Given the description of an element on the screen output the (x, y) to click on. 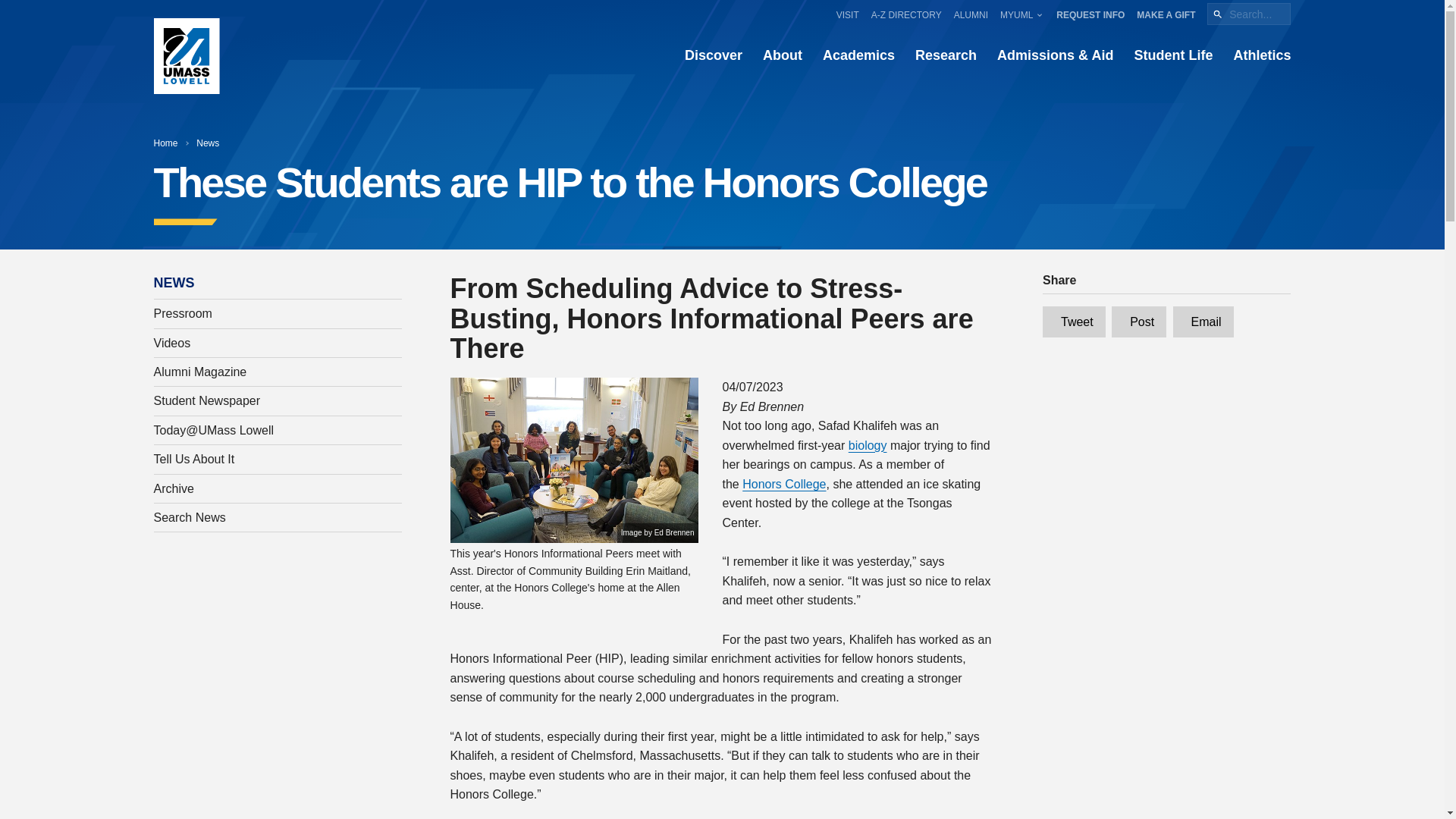
Make A Gift (1166, 14)
Alumni (970, 14)
link this for Biology landing page (867, 445)
A-Z Directory (906, 14)
Student Life (1173, 55)
Research (945, 55)
Visit (847, 14)
Athletics (1261, 55)
Academics (858, 55)
About (782, 55)
Alumni Magazine (277, 371)
News (207, 143)
Athletics (1261, 55)
NEWS (174, 282)
Tell Us About It (277, 459)
